Given the description of an element on the screen output the (x, y) to click on. 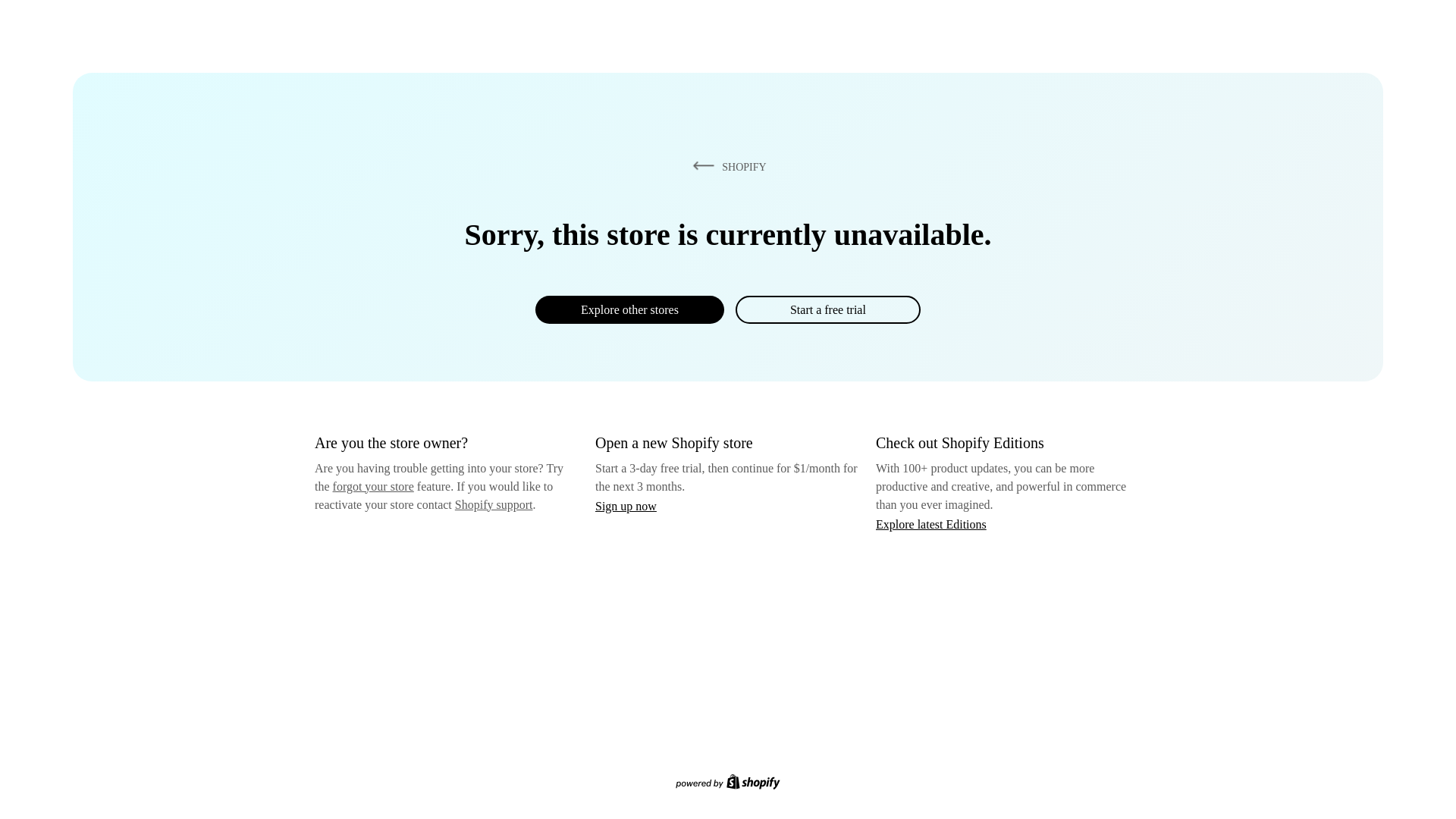
Start a free trial (827, 309)
forgot your store (373, 486)
Shopify support (493, 504)
Sign up now (625, 505)
SHOPIFY (726, 166)
Explore other stores (629, 309)
Explore latest Editions (931, 523)
